Given the description of an element on the screen output the (x, y) to click on. 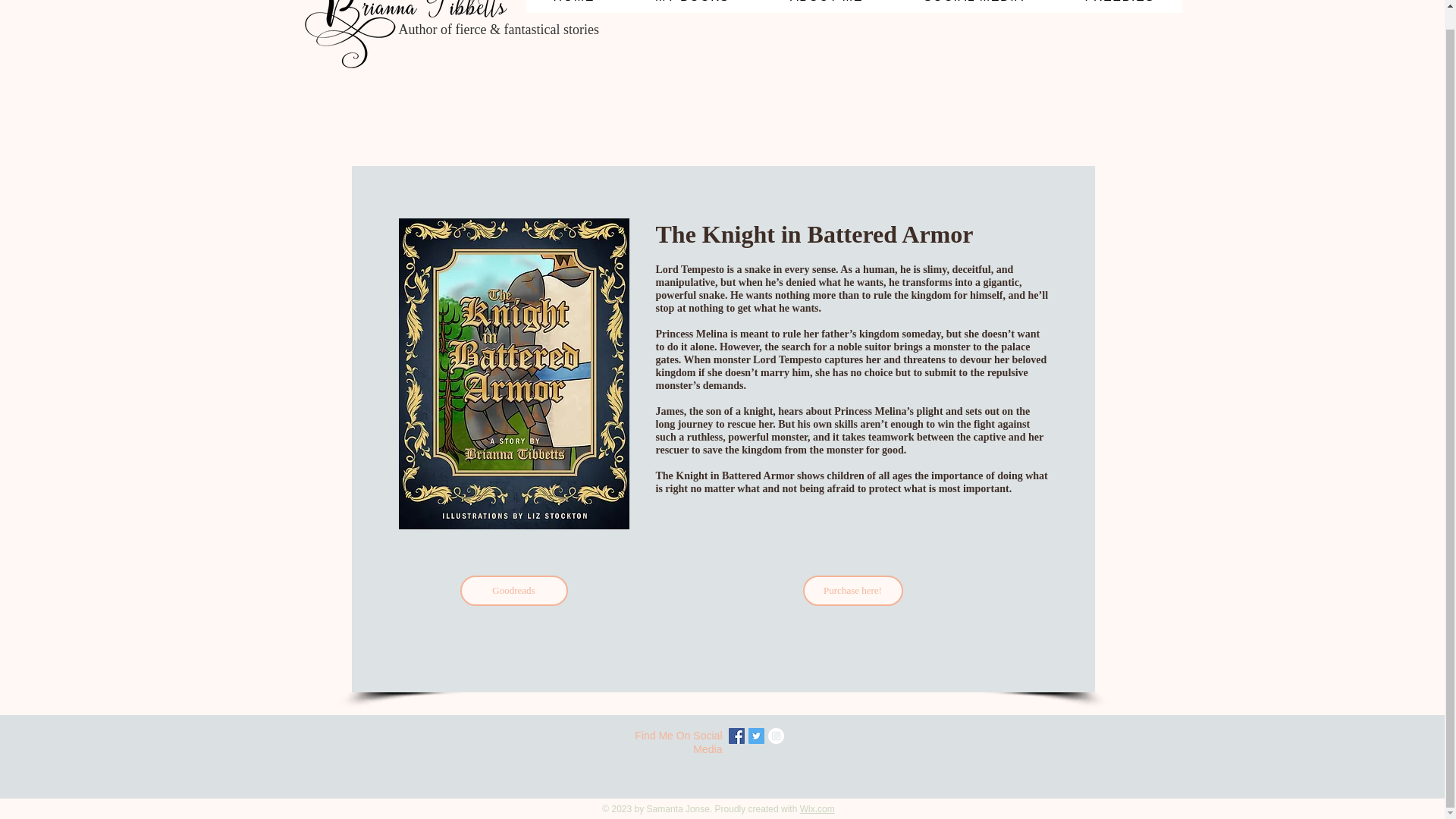
Purchase here! (852, 590)
Goodreads (513, 590)
MY BOOKS (692, 6)
4.png (411, 38)
FREEBIES (1120, 6)
Wix.com (816, 808)
ABOUT ME (825, 6)
SOCIAL MEDIA (973, 6)
HOME (573, 6)
